Given the description of an element on the screen output the (x, y) to click on. 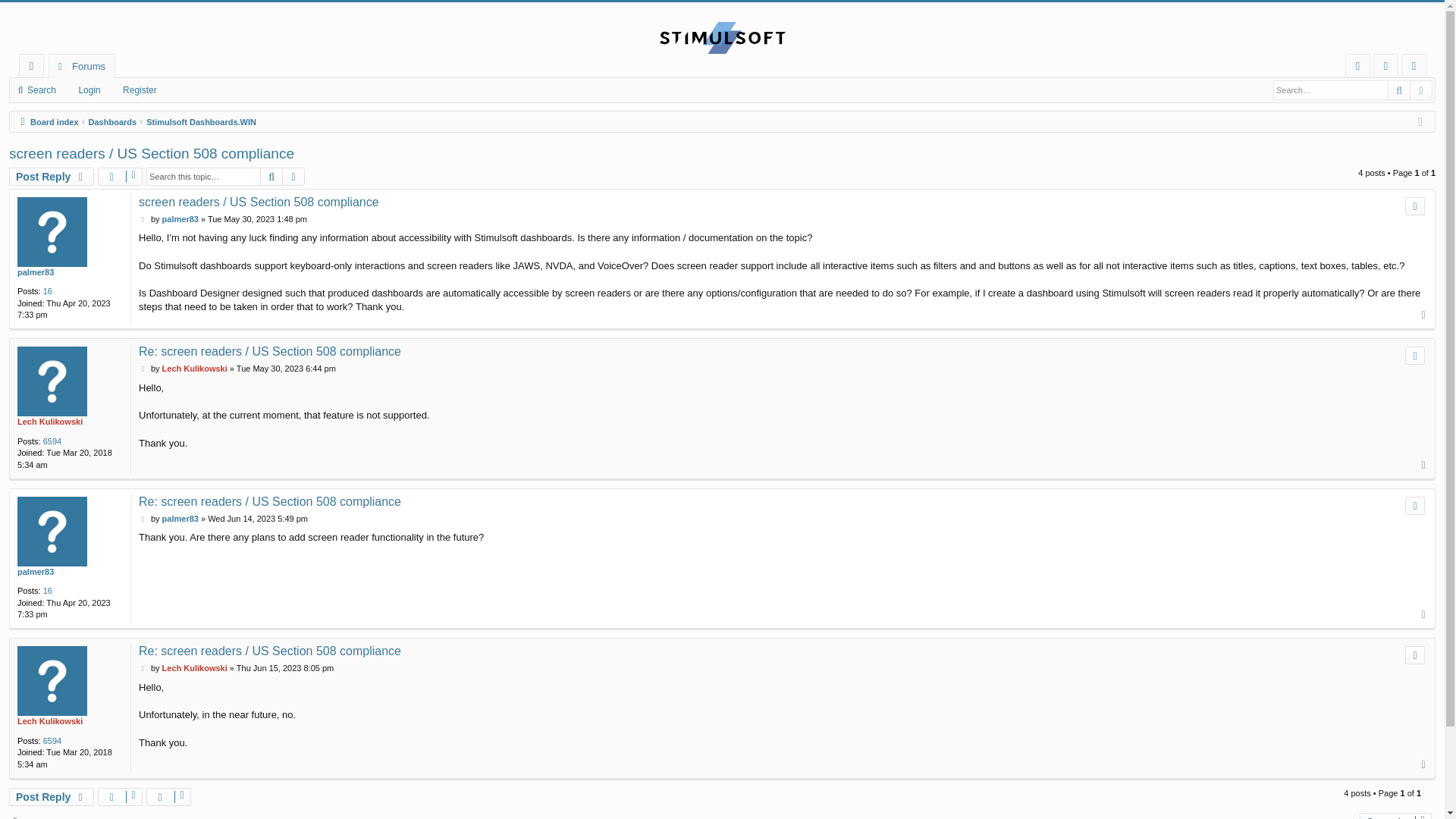
Quick links (30, 65)
Register (1413, 65)
Login (85, 89)
palmer83 (179, 219)
Board index (47, 121)
Dashboards (112, 121)
Login (85, 89)
Post Reply (51, 176)
Register (1413, 65)
Login (1385, 65)
Board index (47, 121)
www.stimulsoft.com (721, 38)
Search (37, 89)
FAQ (1357, 65)
Forums (81, 65)
